Given the description of an element on the screen output the (x, y) to click on. 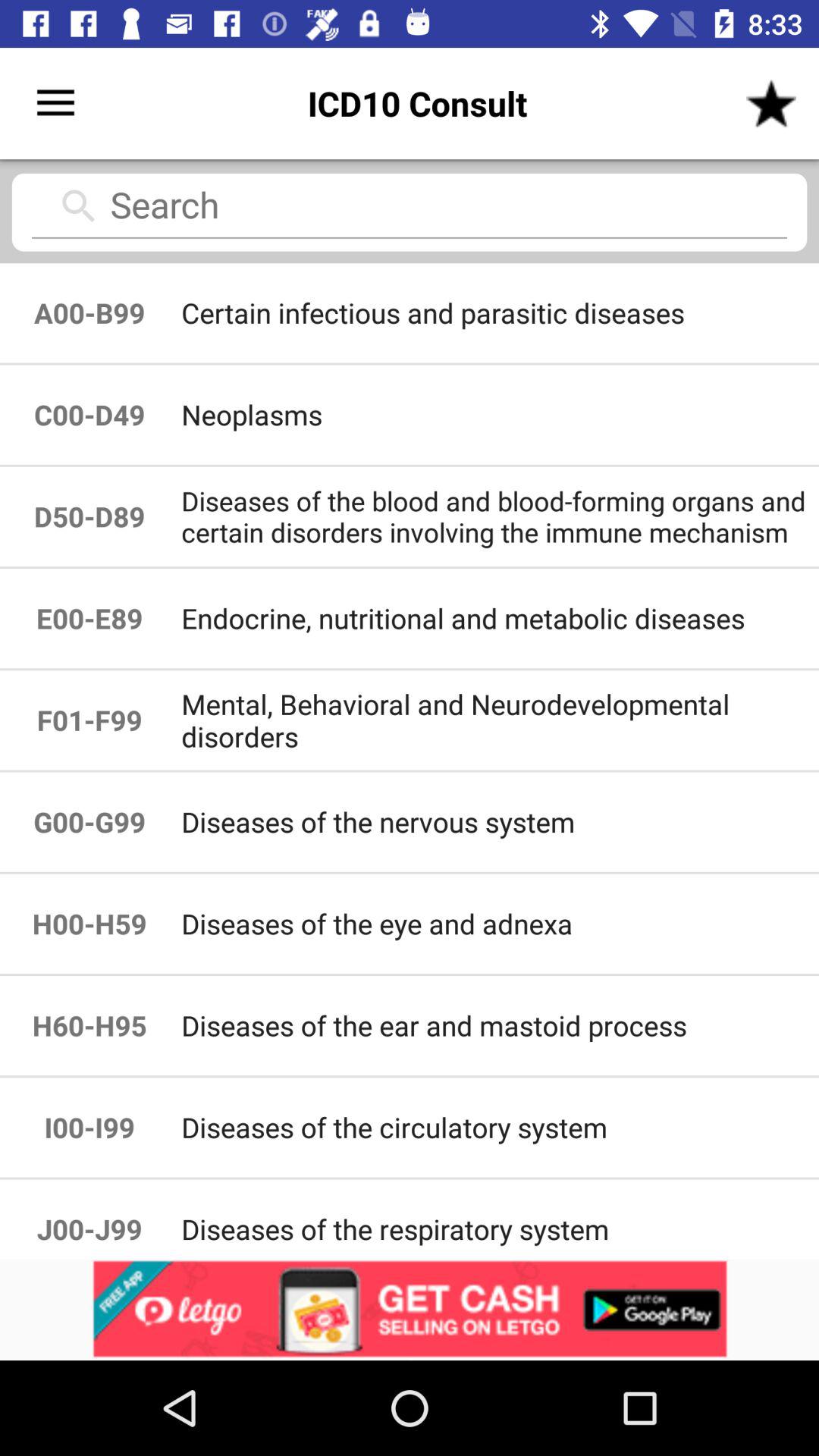
choose icon to the left of certain infectious and (89, 414)
